Given the description of an element on the screen output the (x, y) to click on. 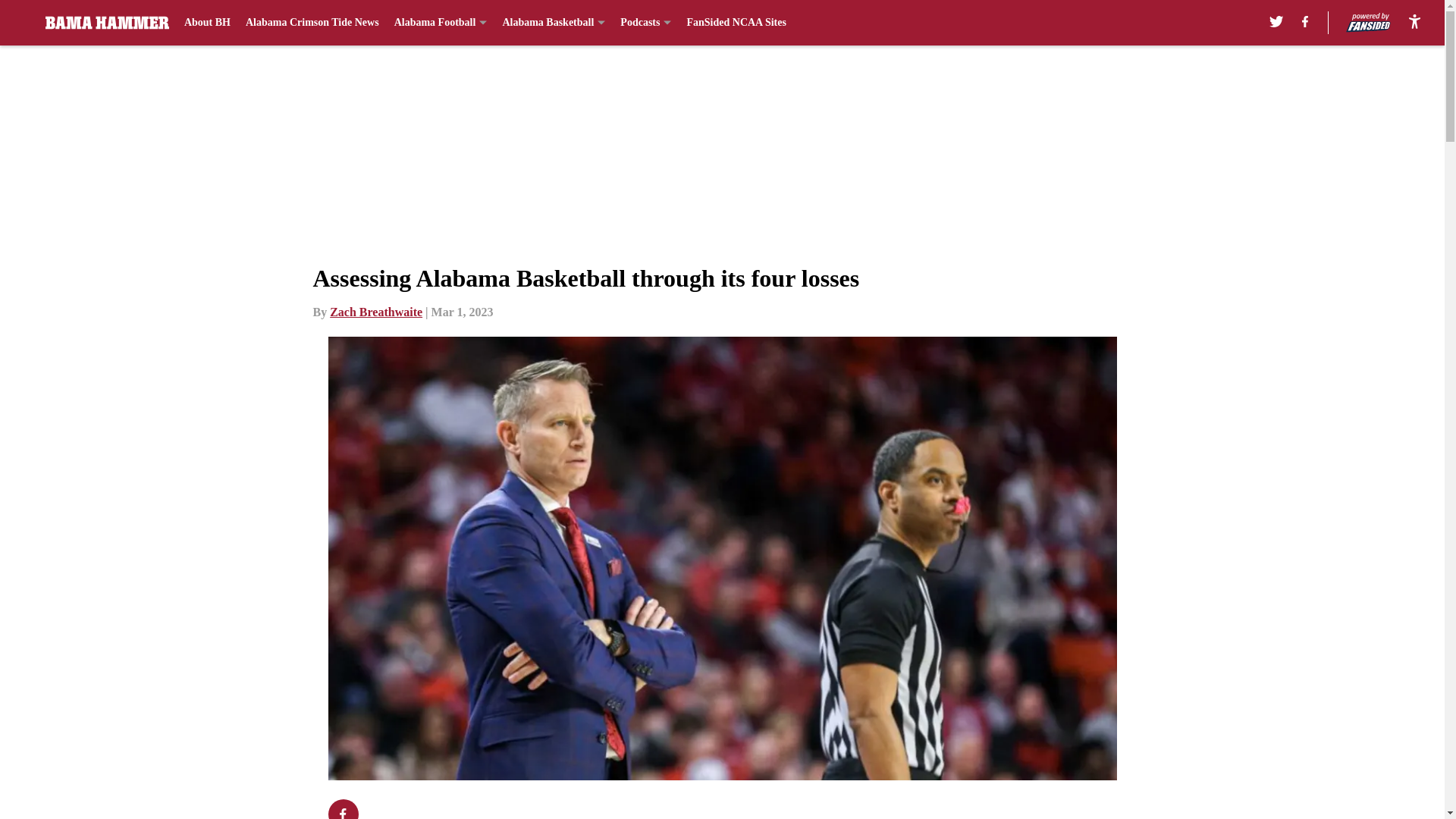
FanSided NCAA Sites (735, 22)
Alabama Crimson Tide News (312, 22)
About BH (207, 22)
Zach Breathwaite (376, 311)
